Given the description of an element on the screen output the (x, y) to click on. 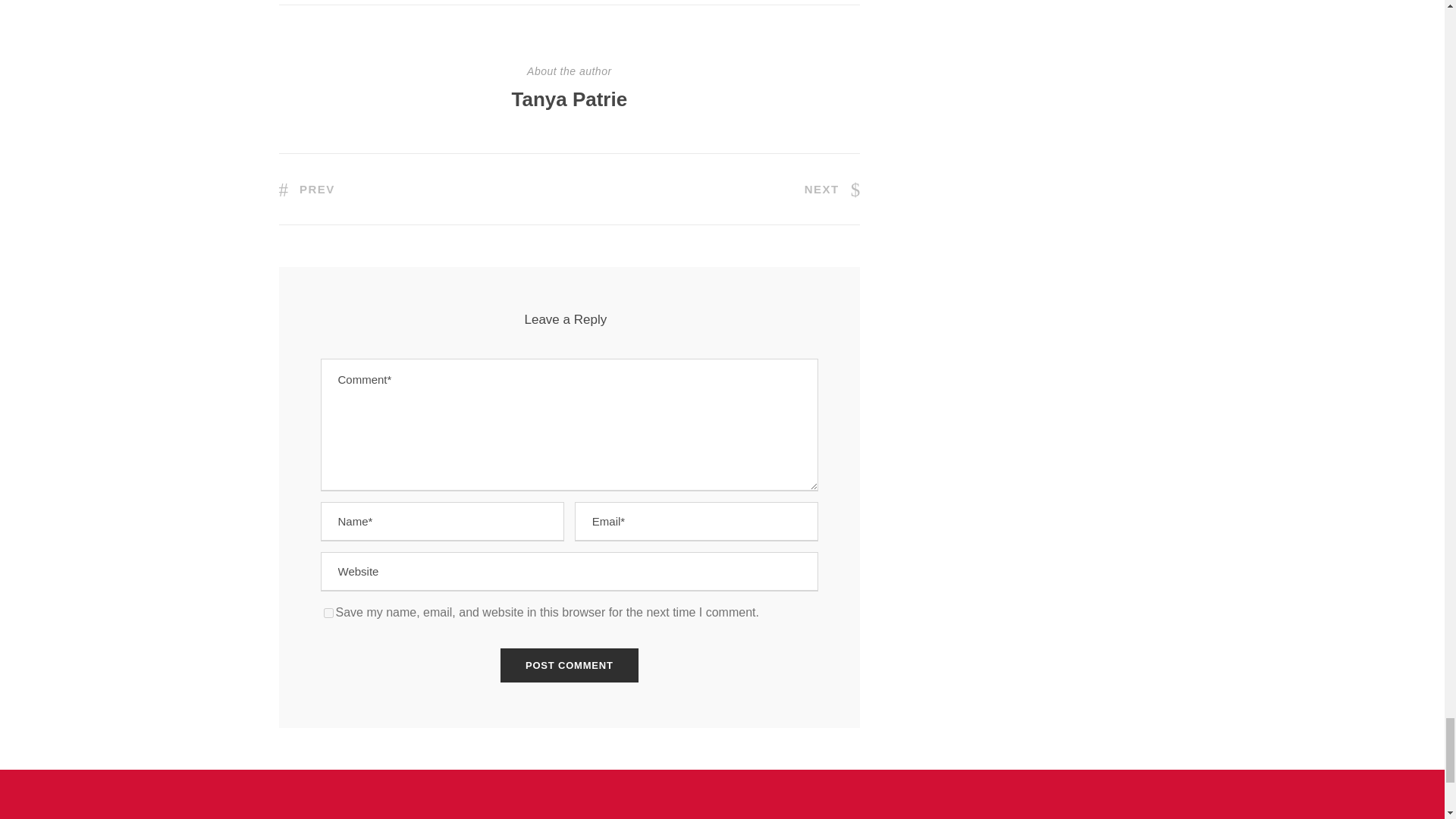
yes (328, 613)
Post Comment (569, 665)
Posts by Tanya Patrie (569, 98)
